Given the description of an element on the screen output the (x, y) to click on. 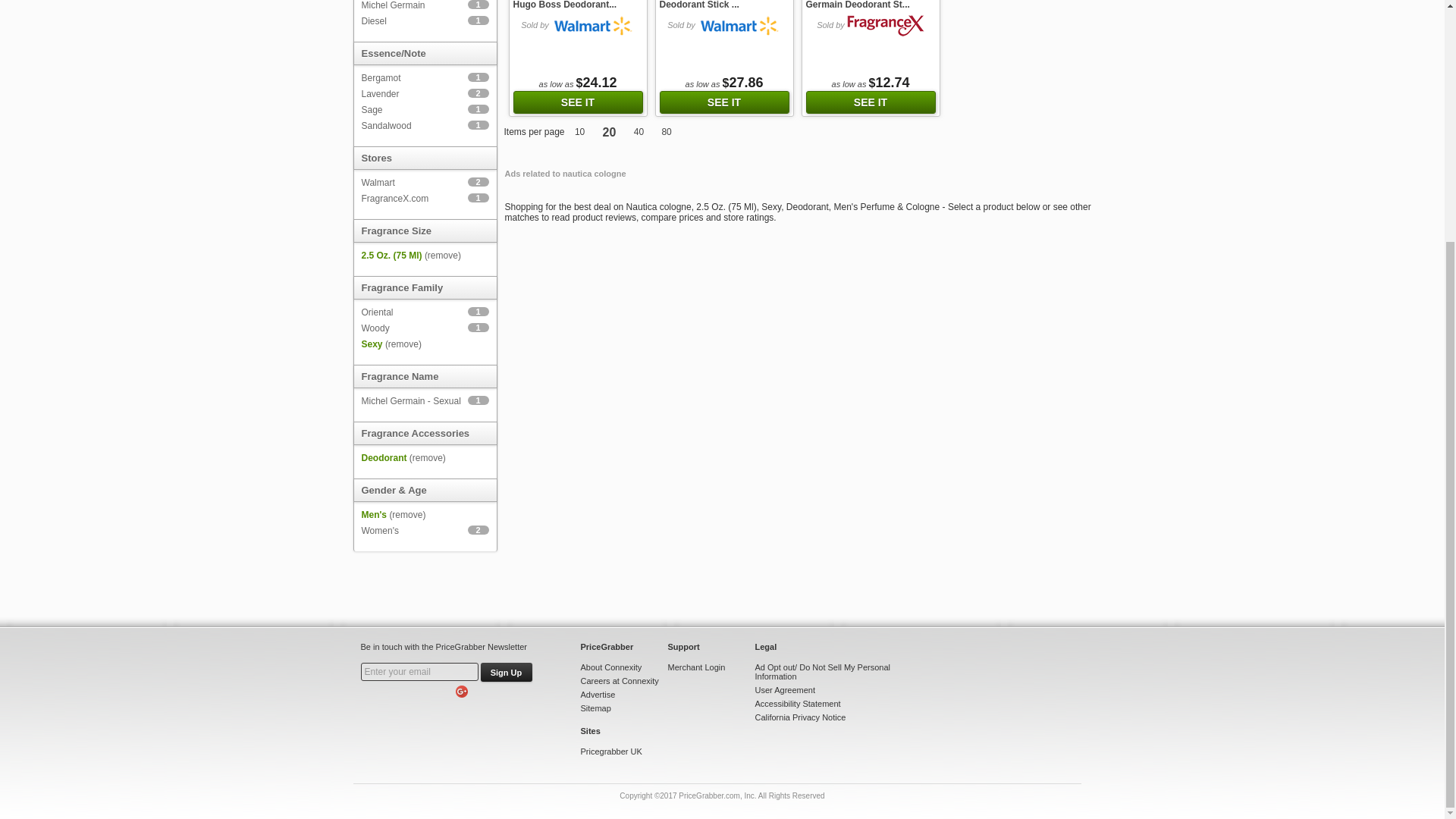
Sign Up (506, 671)
Enter your email (420, 671)
